Given the description of an element on the screen output the (x, y) to click on. 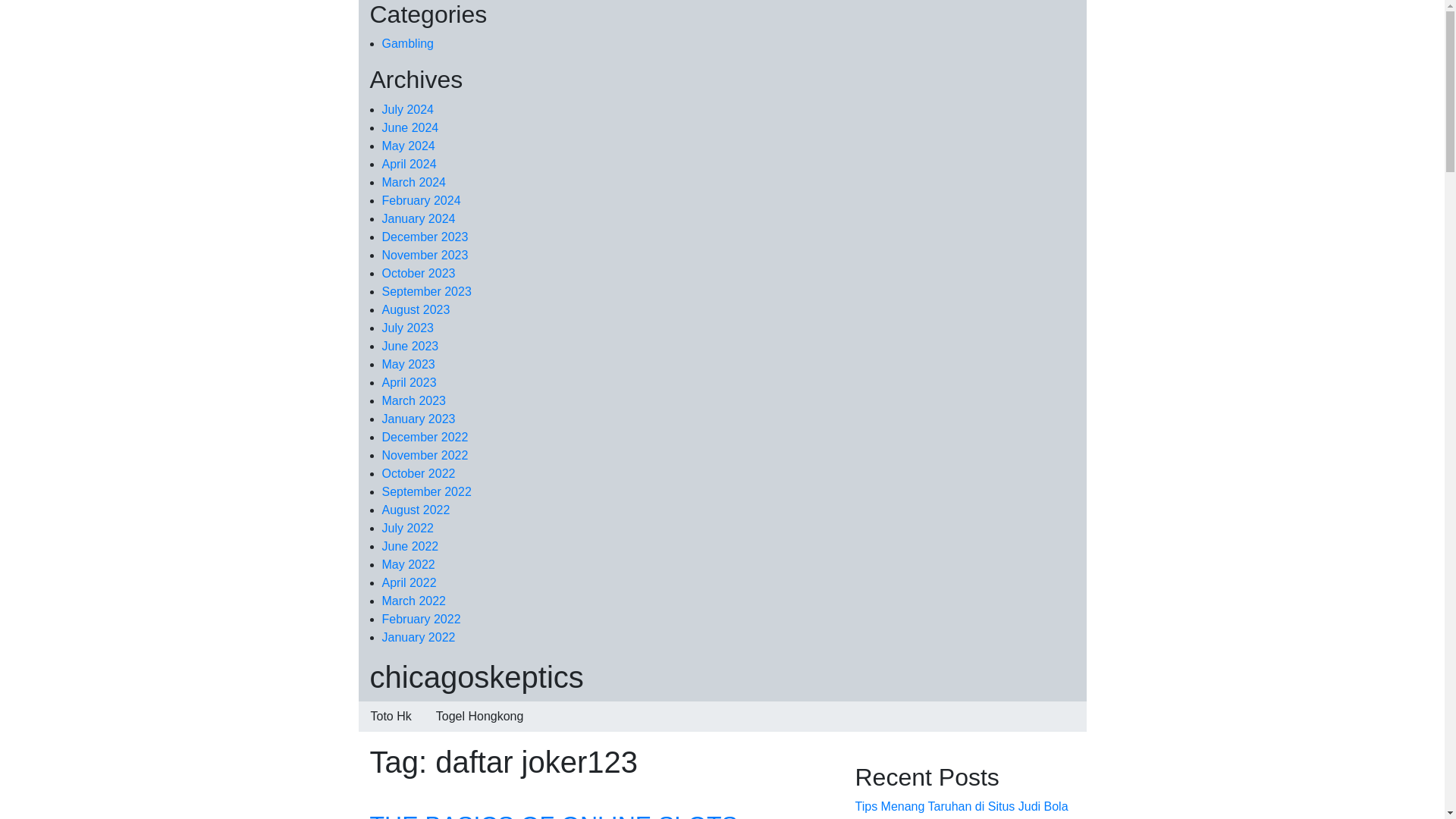
February 2024 (421, 200)
August 2022 (415, 509)
Gambling (407, 42)
November 2023 (424, 254)
December 2023 (424, 236)
September 2022 (426, 491)
November 2022 (424, 454)
April 2023 (408, 382)
January 2023 (418, 418)
July 2023 (407, 327)
April 2024 (408, 164)
June 2024 (410, 127)
January 2022 (418, 636)
July 2022 (407, 527)
Togel Hongkong (479, 716)
